Given the description of an element on the screen output the (x, y) to click on. 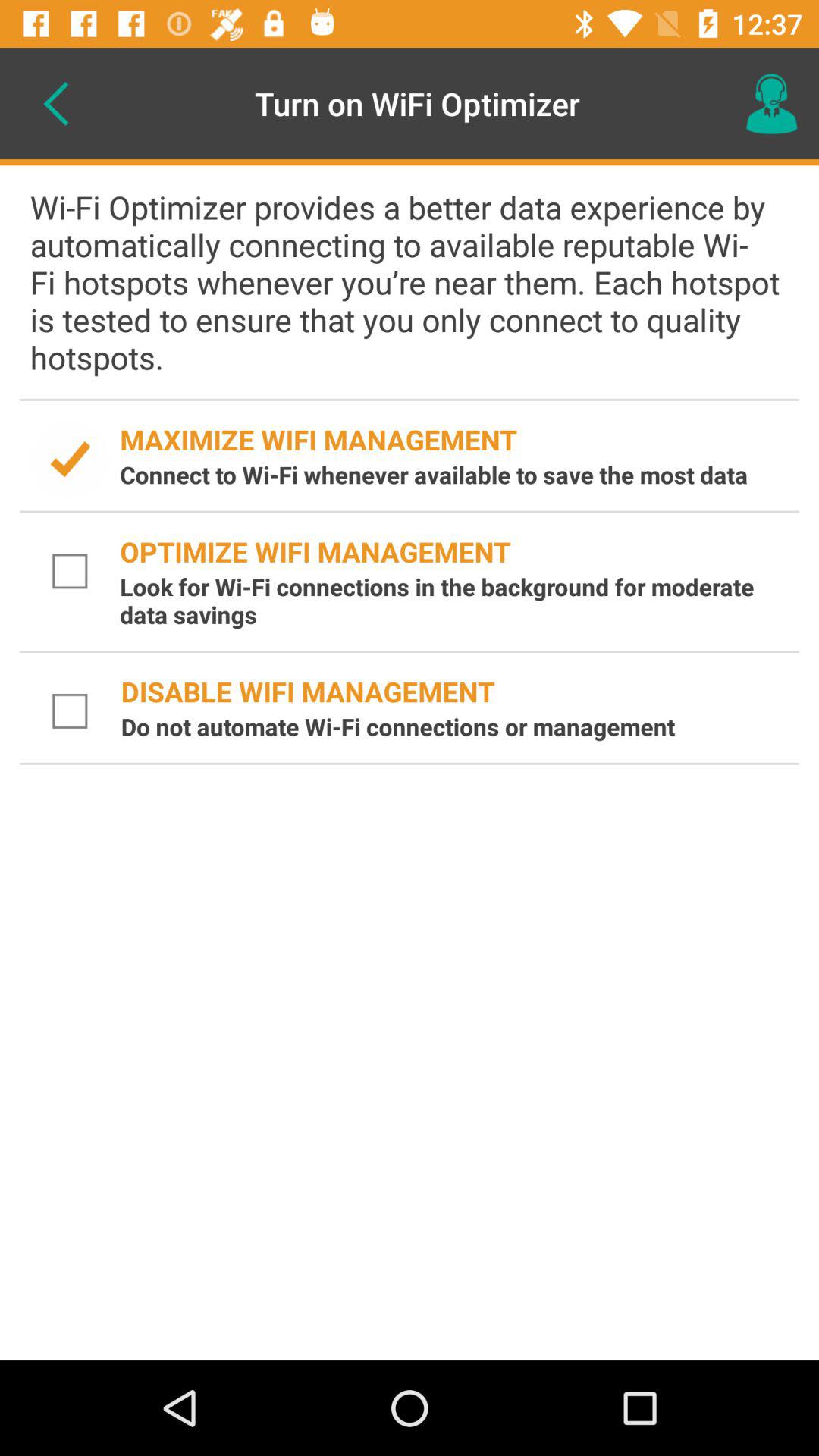
go to select option (70, 711)
